Given the description of an element on the screen output the (x, y) to click on. 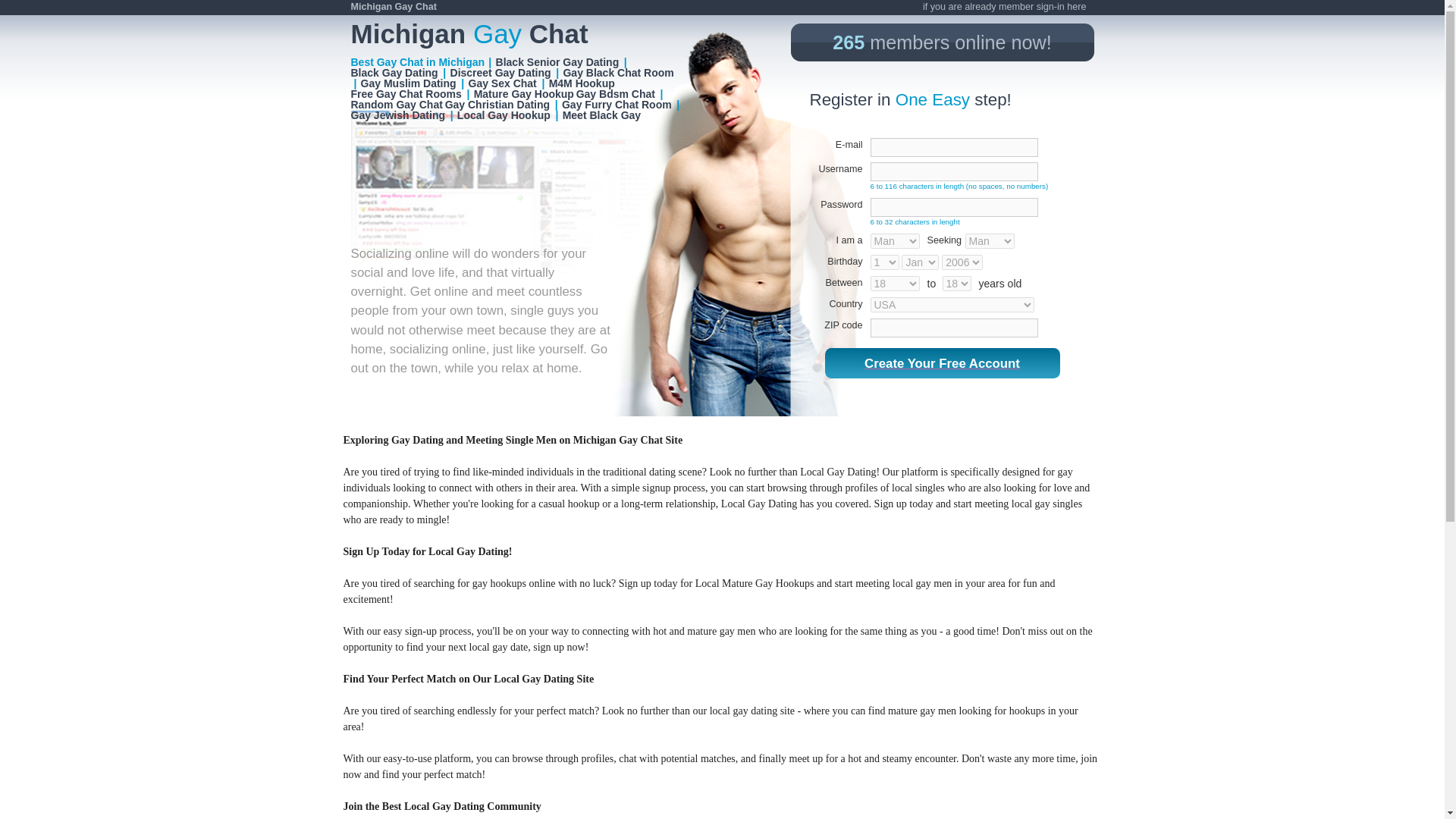
Gay Furry Chat Room (617, 104)
Gay Muslim Dating (409, 82)
Mature Gay Hookup (524, 93)
Free Gay Chat Rooms (406, 93)
Create Your Free Account (940, 363)
Black Gay Dating (394, 72)
Gay Christian Dating (498, 104)
M4M Hookup (581, 82)
Gay Jewish Dating (397, 114)
Local Gay Hookup (504, 114)
Discreet Gay Dating (500, 72)
Gay Bdsm Chat (616, 93)
Meet Black Gay (602, 114)
Random Gay Chat (397, 104)
Gay Black Chat Room (618, 72)
